Given the description of an element on the screen output the (x, y) to click on. 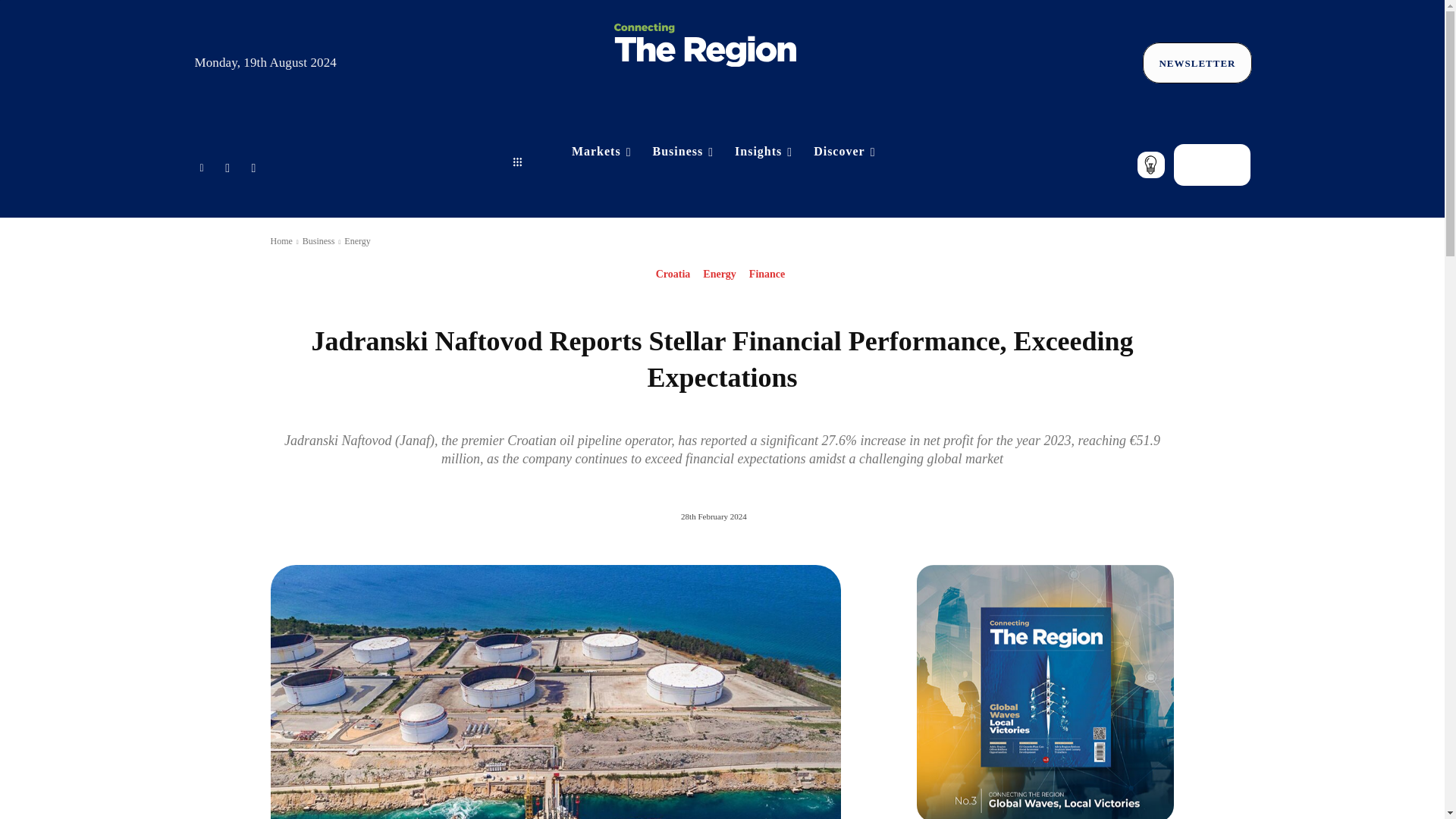
Newsletter (1196, 63)
Instagram (253, 165)
Twitter (227, 165)
Linkedin (200, 165)
